Given the description of an element on the screen output the (x, y) to click on. 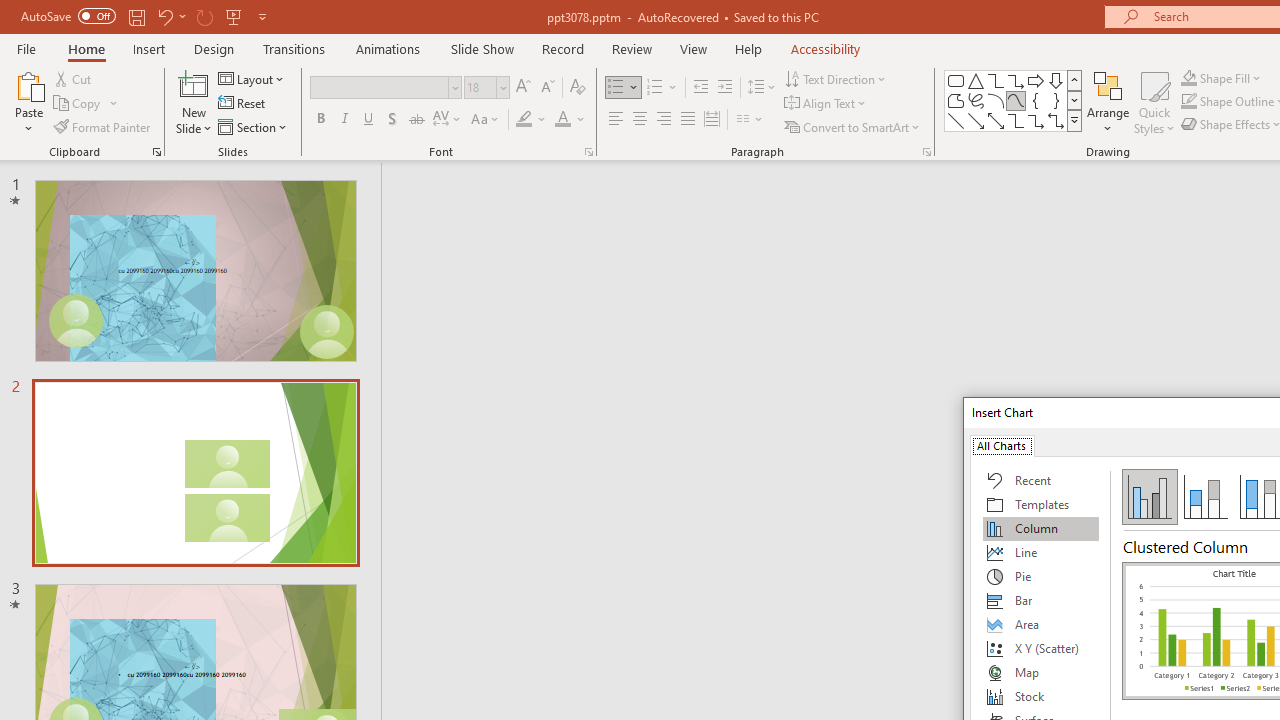
Stacked Column (1205, 496)
